Given the description of an element on the screen output the (x, y) to click on. 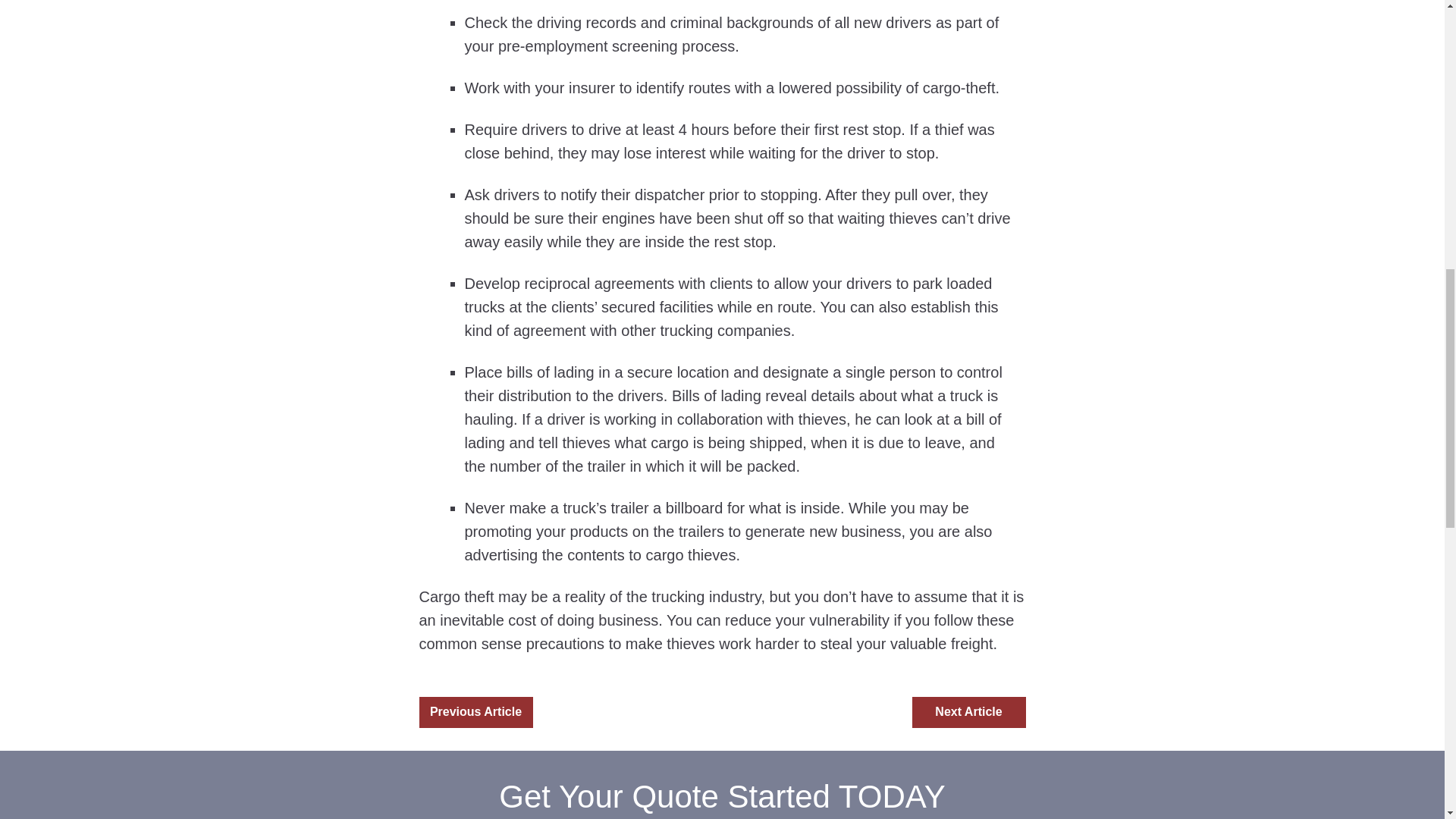
Next Article (968, 712)
Previous Article (475, 712)
